Given the description of an element on the screen output the (x, y) to click on. 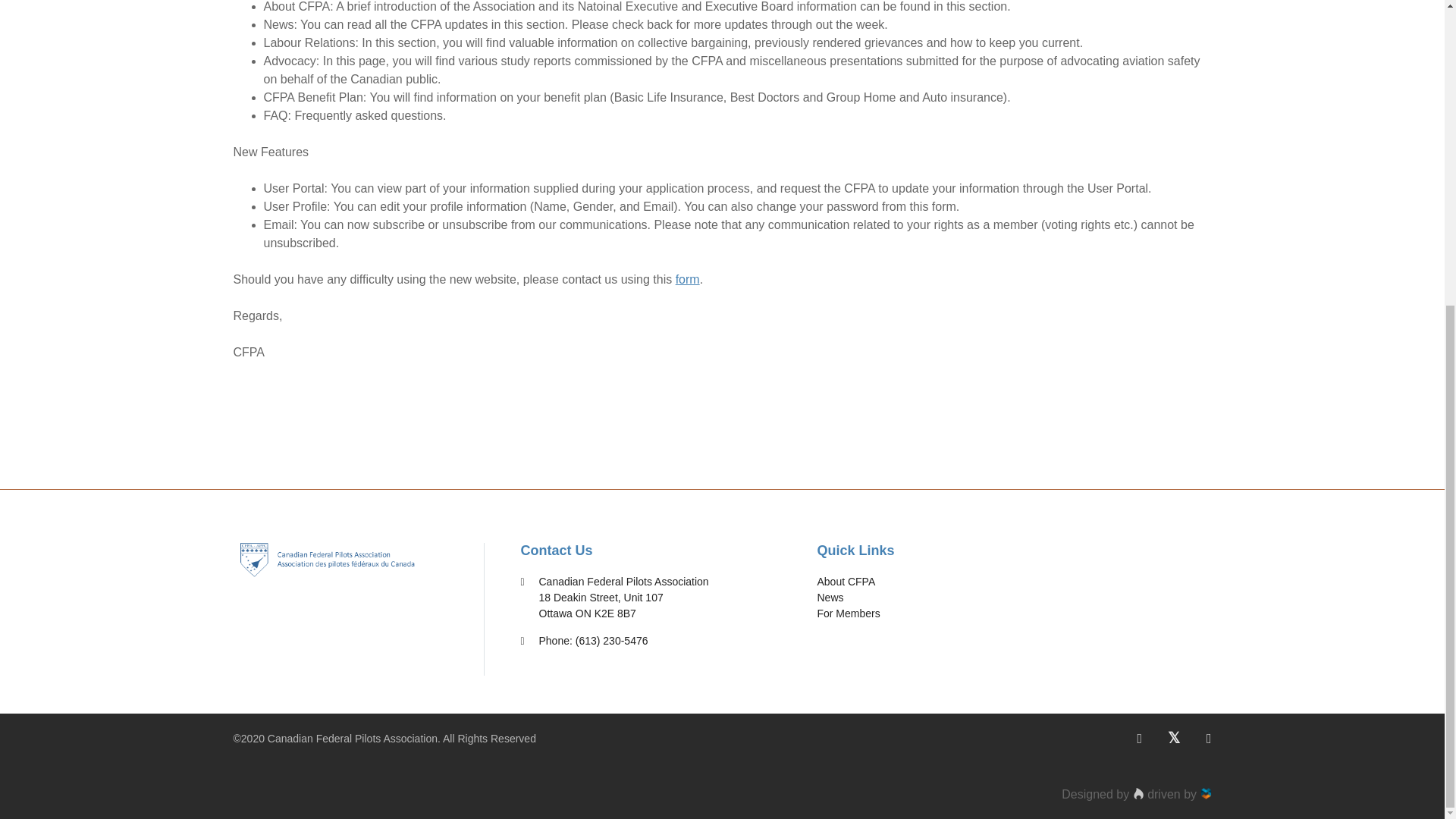
form (687, 278)
Message Sent (687, 278)
Contact Us (555, 549)
News (829, 597)
For Members (847, 613)
About CFPA (845, 581)
